Given the description of an element on the screen output the (x, y) to click on. 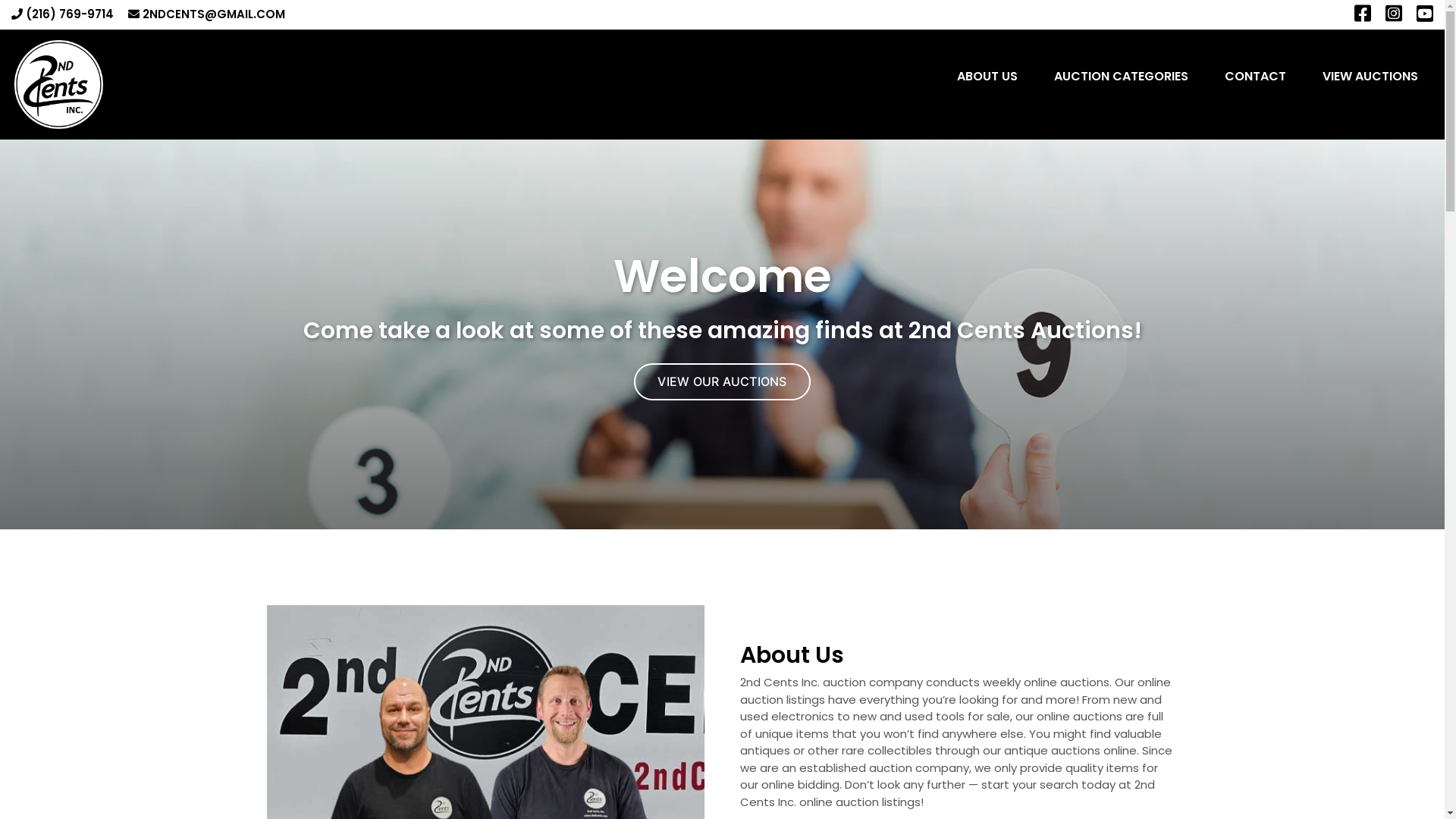
CONTACT Element type: text (1255, 76)
(216) 769-9714 Element type: text (62, 13)
ABOUT US Element type: text (986, 76)
VIEW AUCTIONS Element type: text (1370, 76)
VIEW OUR AUCTIONS Element type: text (721, 381)
AUCTION CATEGORIES Element type: text (1120, 76)
2NDCENTS@GMAIL.COM Element type: text (206, 13)
